Given the description of an element on the screen output the (x, y) to click on. 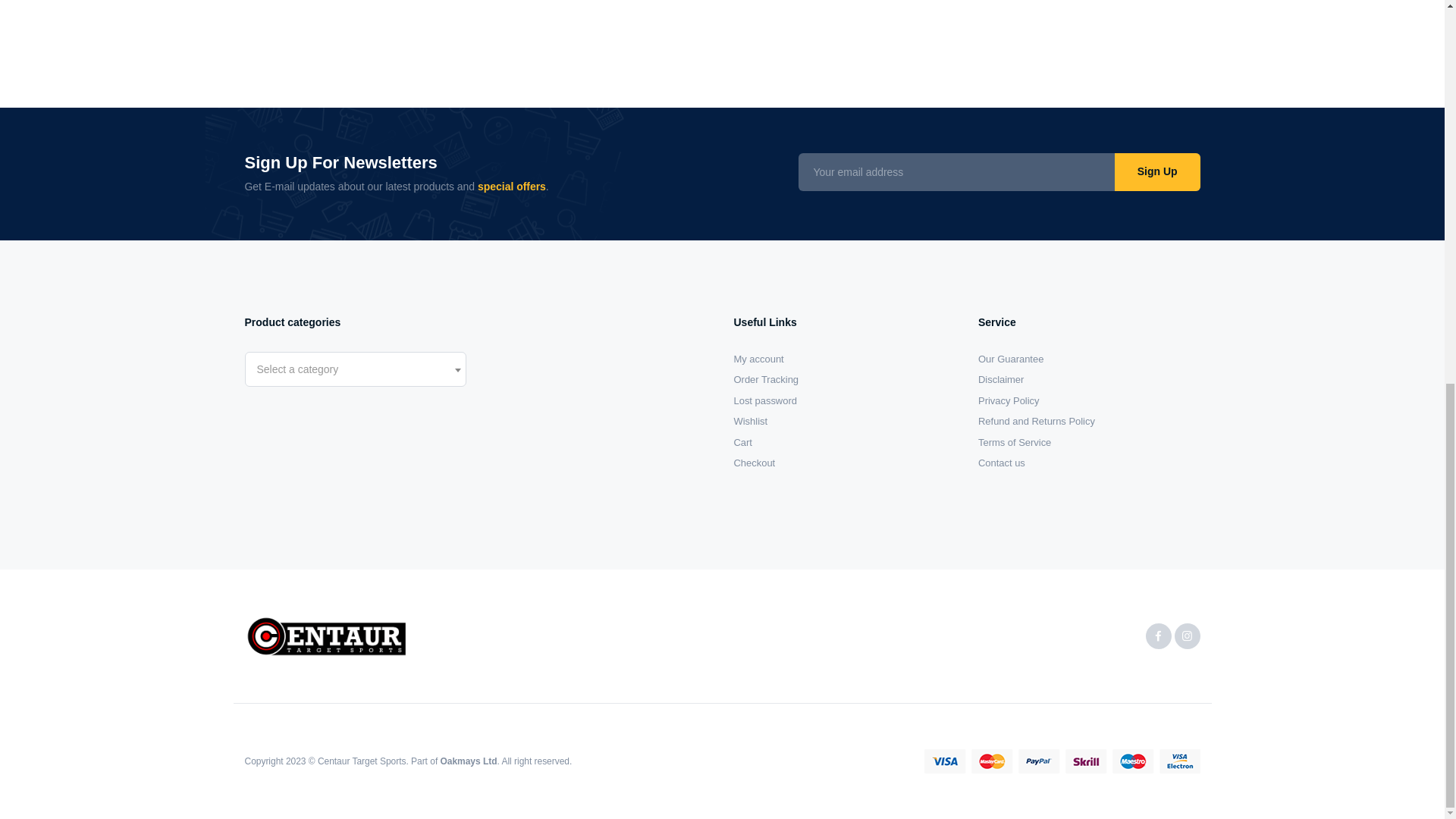
Centaur Target Sports (326, 636)
